Given the description of an element on the screen output the (x, y) to click on. 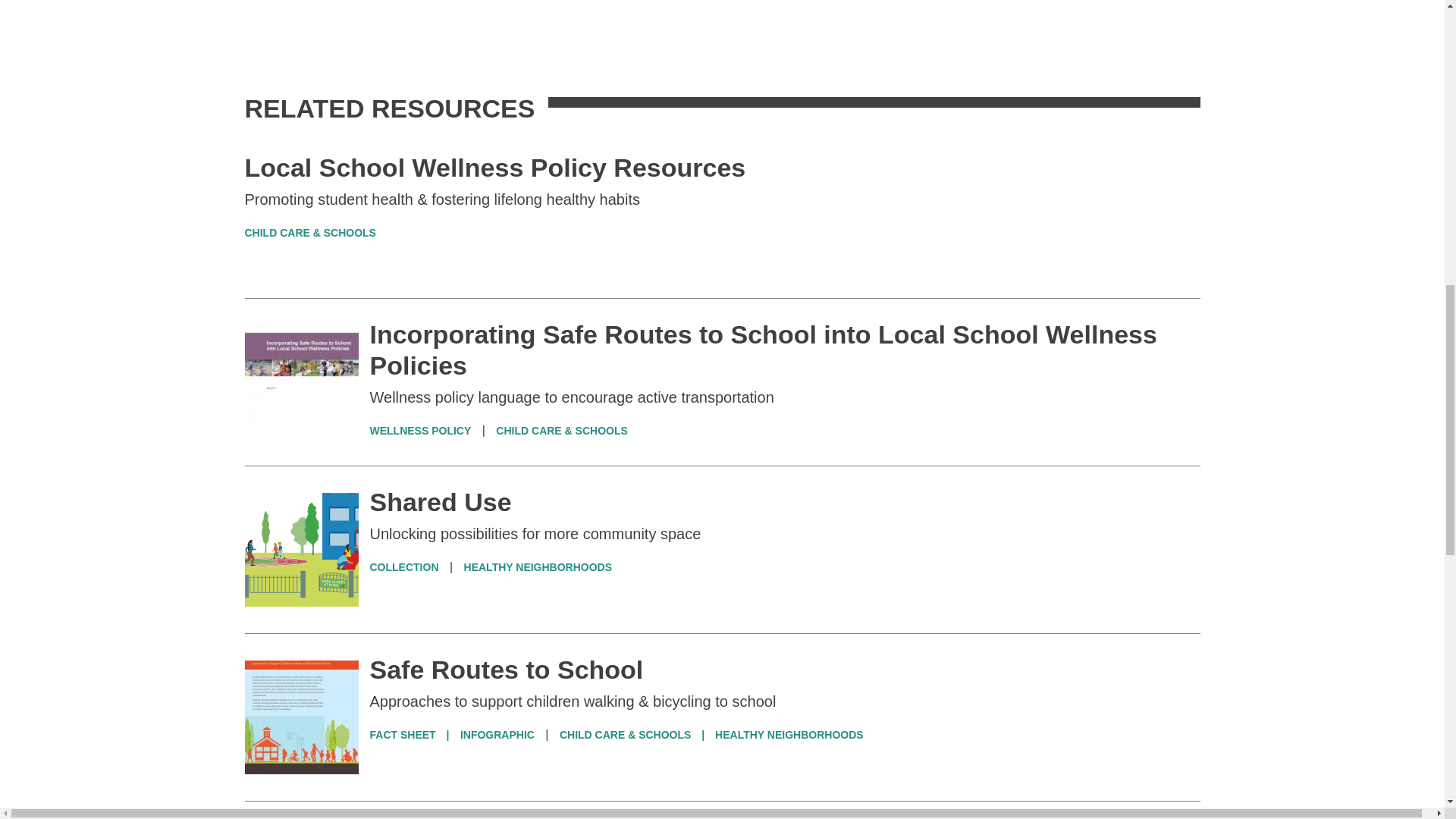
Local School Wellness Policy Resources (494, 167)
Safe Routes to School (506, 669)
Shared Use (440, 501)
